Given the description of an element on the screen output the (x, y) to click on. 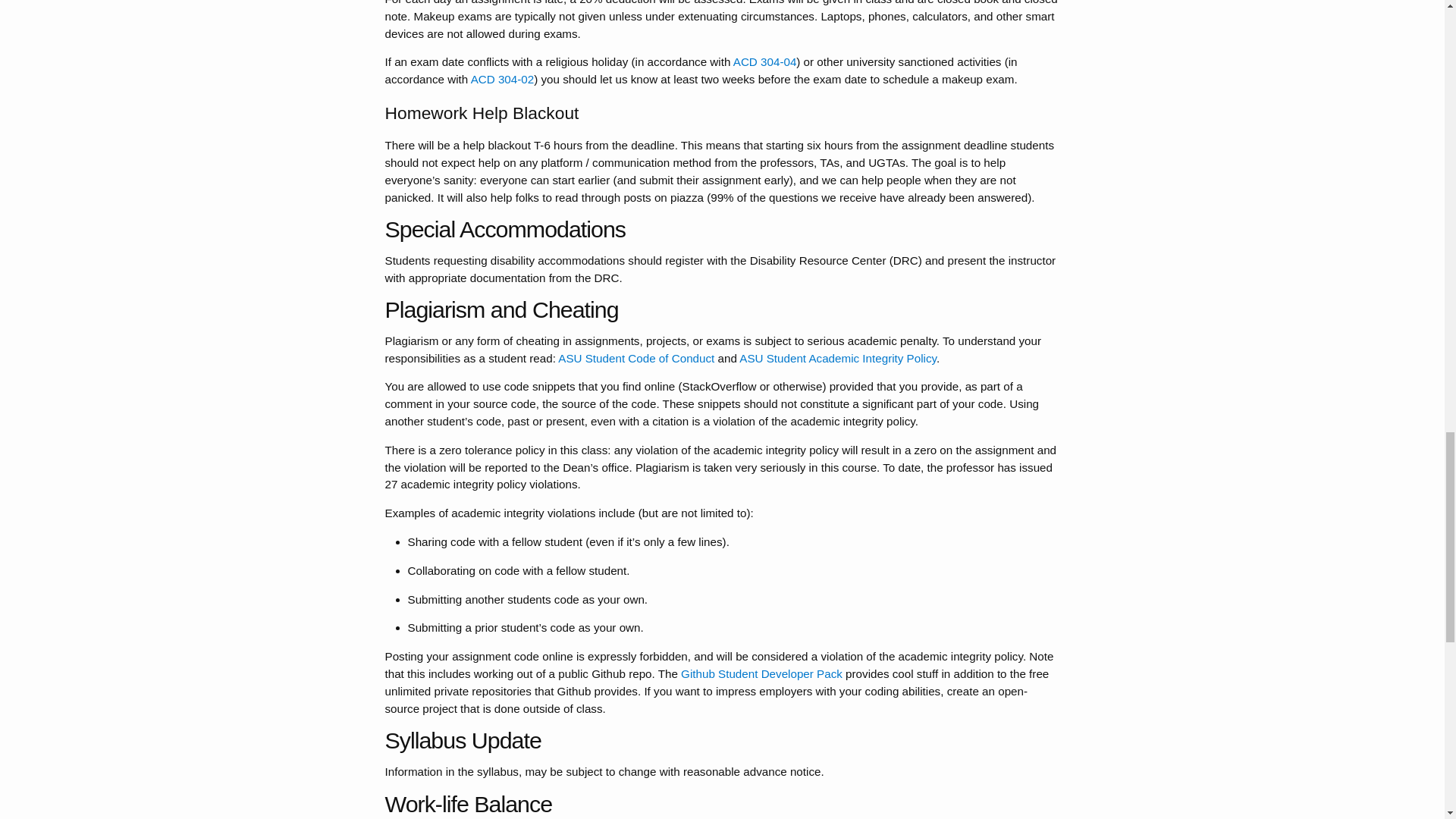
ASU Student Code of Conduct (635, 358)
ACD 304-02 (502, 78)
ASU Student Academic Integrity Policy (837, 358)
ACD 304-04 (764, 61)
Github Student Developer Pack (762, 673)
